Given the description of an element on the screen output the (x, y) to click on. 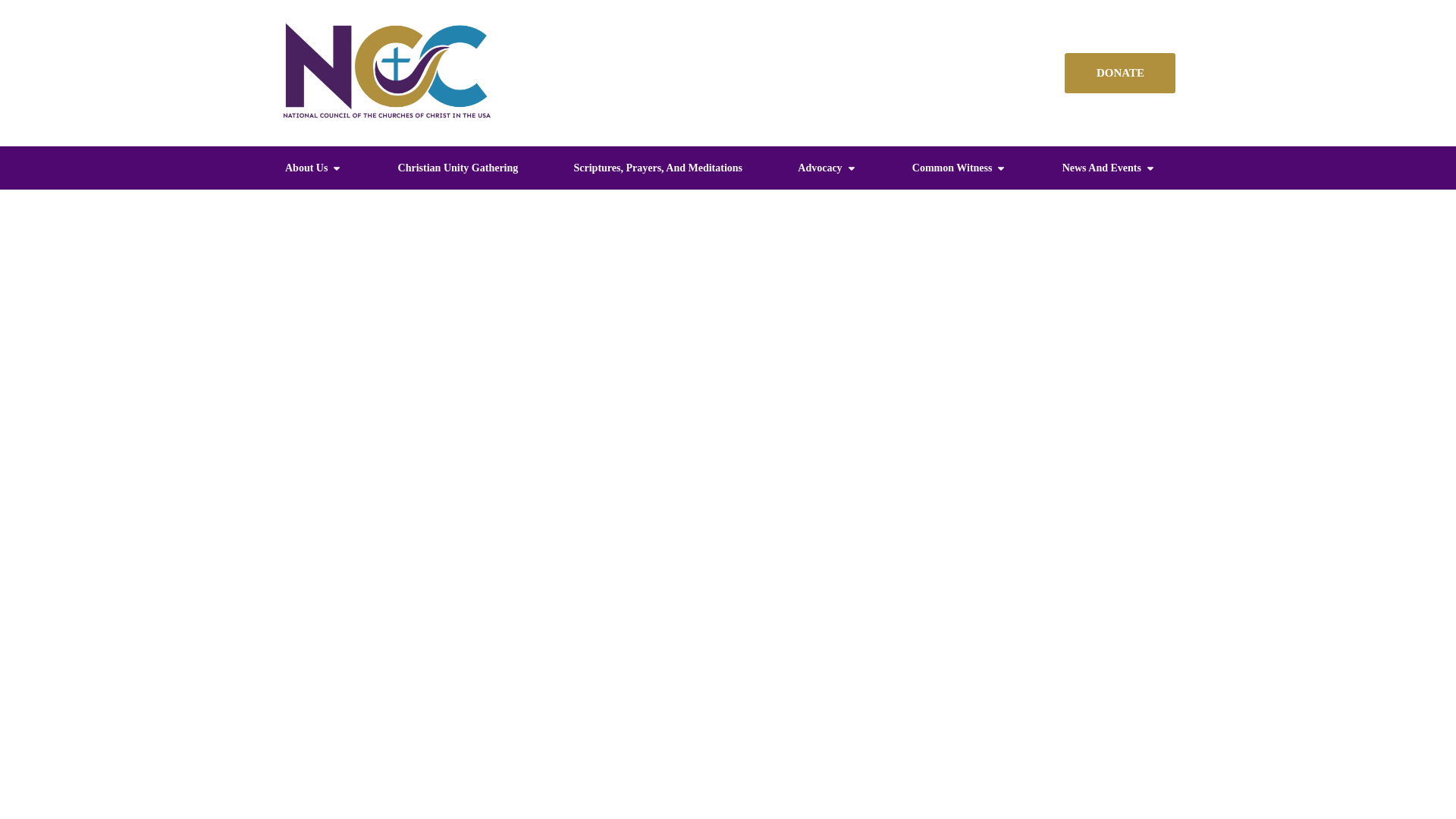
Common Witness (952, 167)
About Us (306, 167)
DONATE (1119, 73)
Christian Unity Gathering (457, 167)
Scriptures, Prayers, And Meditations (657, 167)
Advocacy (819, 167)
